Given the description of an element on the screen output the (x, y) to click on. 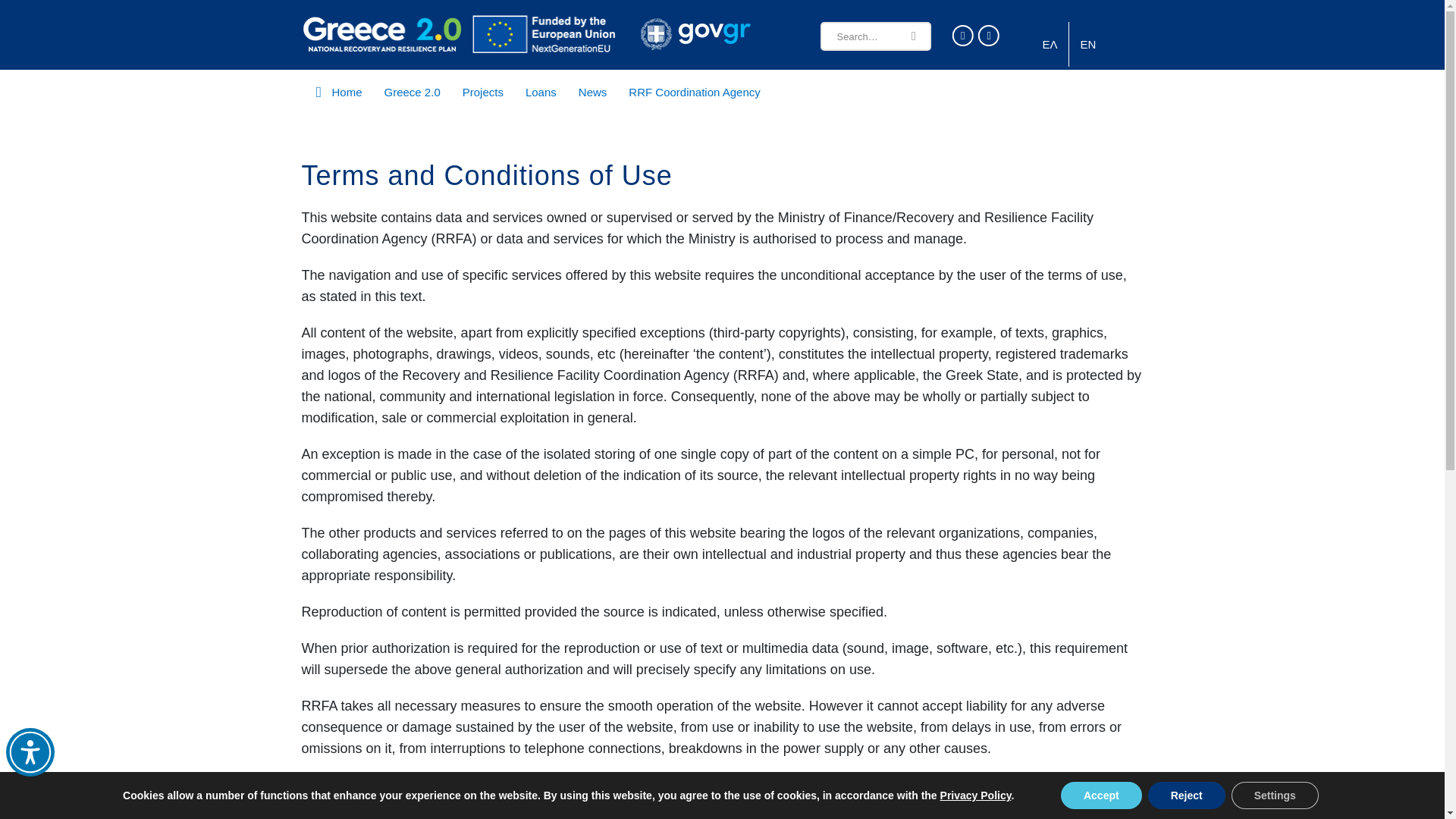
Twitter (963, 34)
govgr-top-logo-2 (695, 34)
EN (1087, 44)
Loans (541, 91)
EN (1087, 44)
RRF Coordination Agency (693, 91)
Home (336, 91)
Greece 2.0 (412, 91)
Search (914, 36)
News (592, 91)
Accessibility Menu (30, 752)
Youtube (988, 34)
Projects (482, 91)
